Given the description of an element on the screen output the (x, y) to click on. 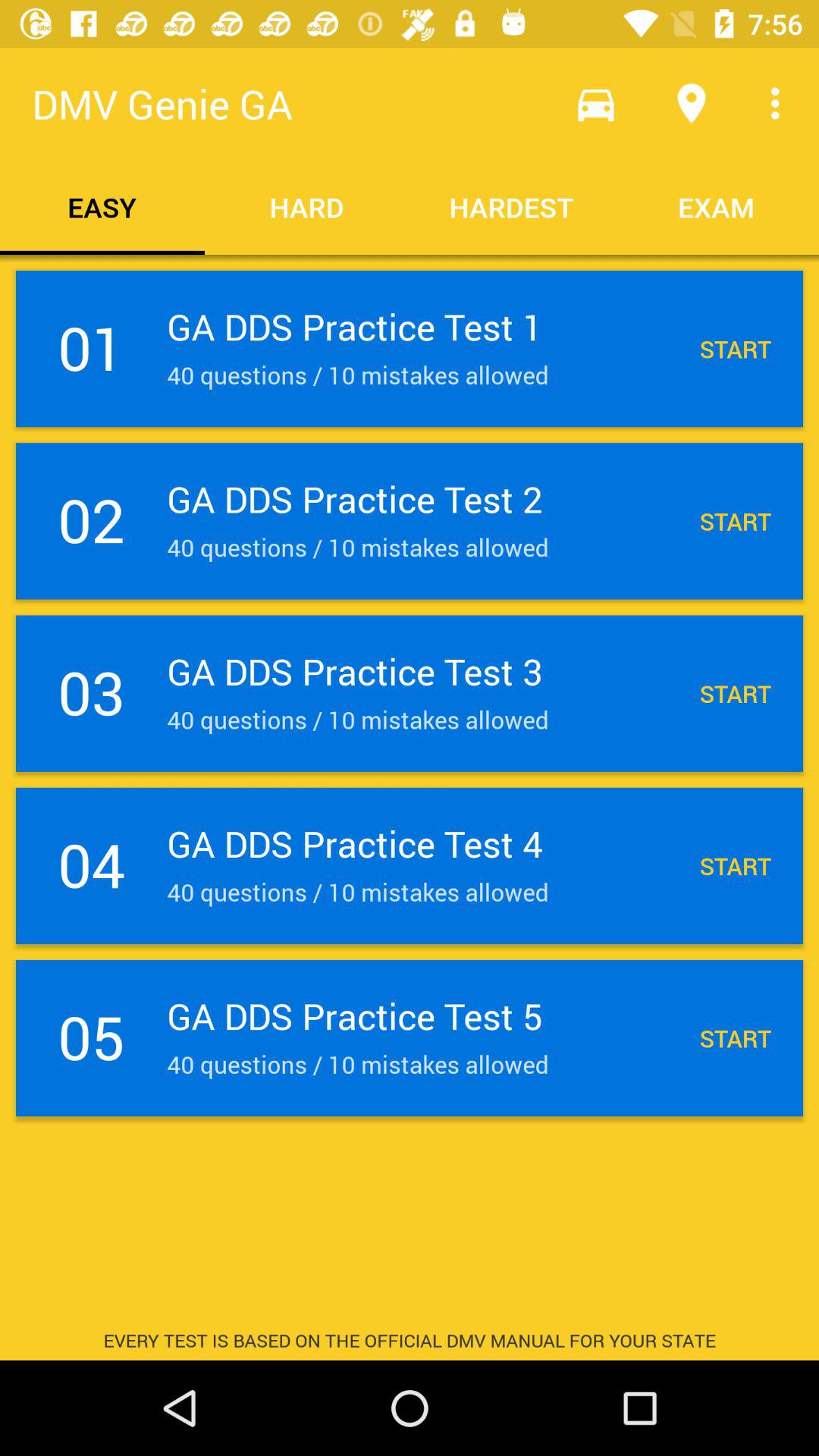
move to text which is under the 40 questions10 mistakes allowed (409, 1037)
click on the third text below easy (409, 693)
click on first blue button from top (409, 348)
